Given the description of an element on the screen output the (x, y) to click on. 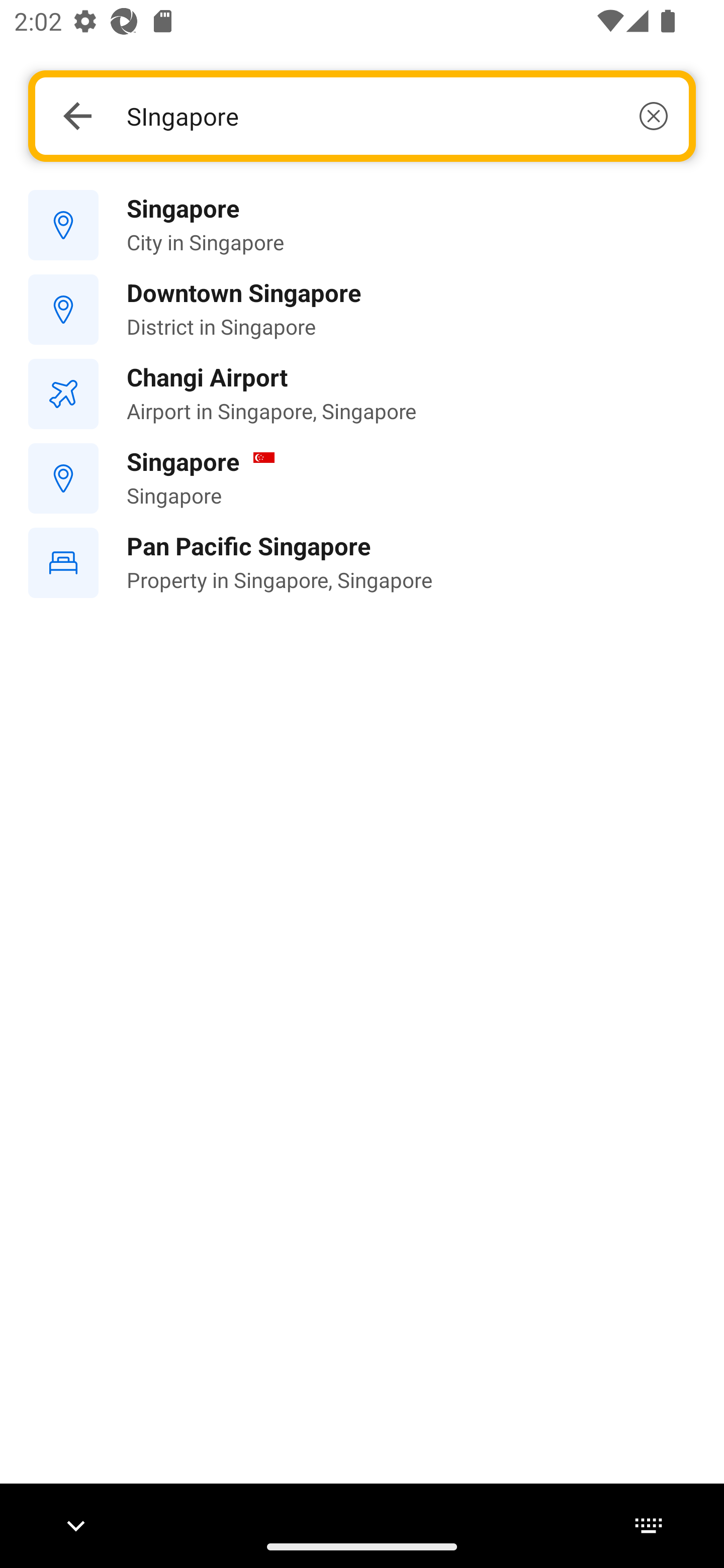
SIngapore (396, 115)
Singapore City in Singapore (362, 225)
Downtown Singapore District in Singapore (362, 309)
Changi Airport Airport in Singapore, Singapore (362, 393)
Singapore (362, 477)
